Given the description of an element on the screen output the (x, y) to click on. 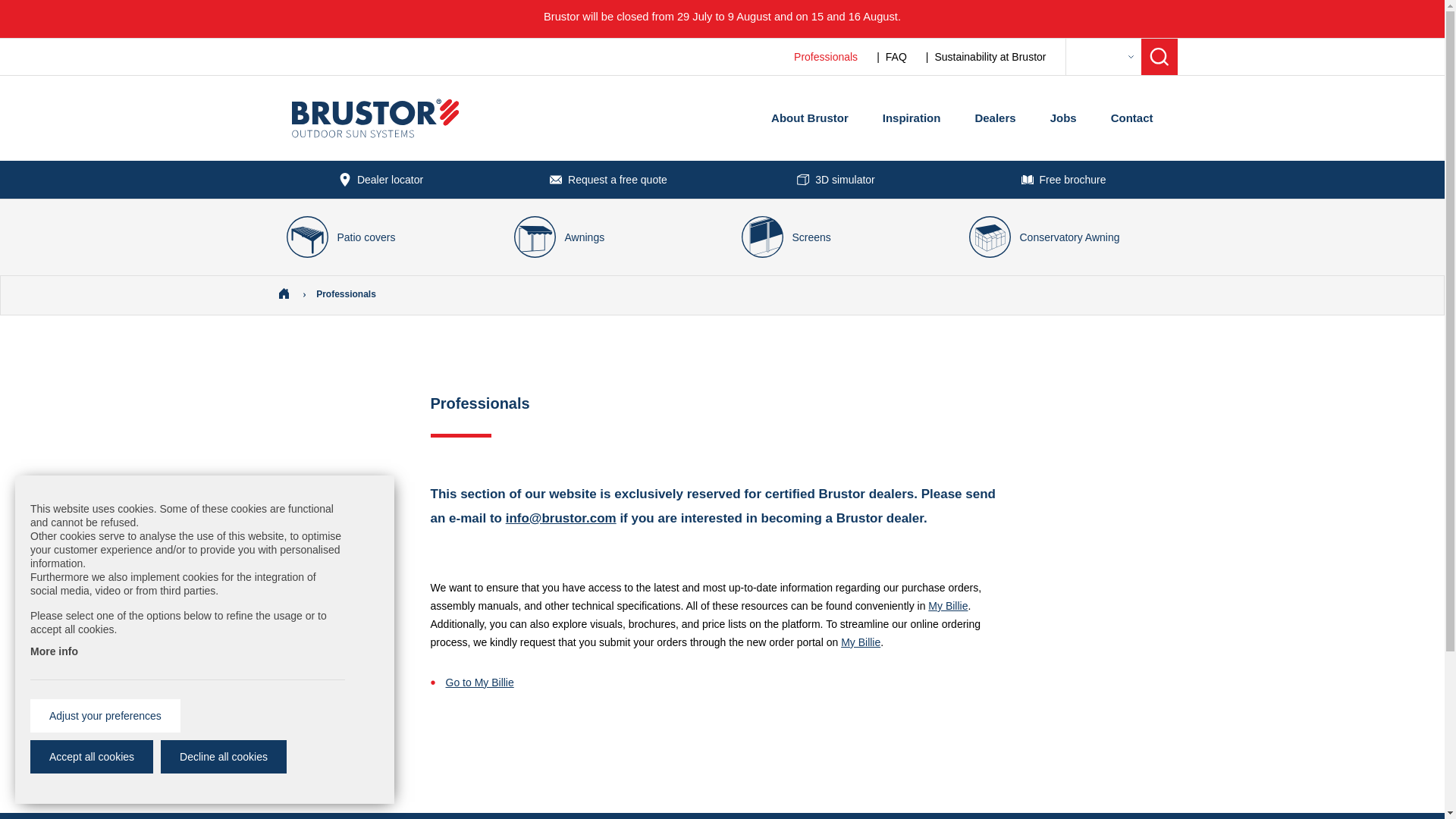
Request a free quote (608, 179)
My Billie (948, 605)
Patio covers (381, 236)
Go to My Billie (479, 682)
3D simulator (835, 179)
Dealer locator (380, 179)
About Brustor (809, 117)
Awnings (608, 236)
Contact (1131, 117)
My Billie (860, 642)
Dealers (994, 117)
Jobs (1063, 117)
Inspiration (911, 117)
Free brochure (1062, 179)
